Given the description of an element on the screen output the (x, y) to click on. 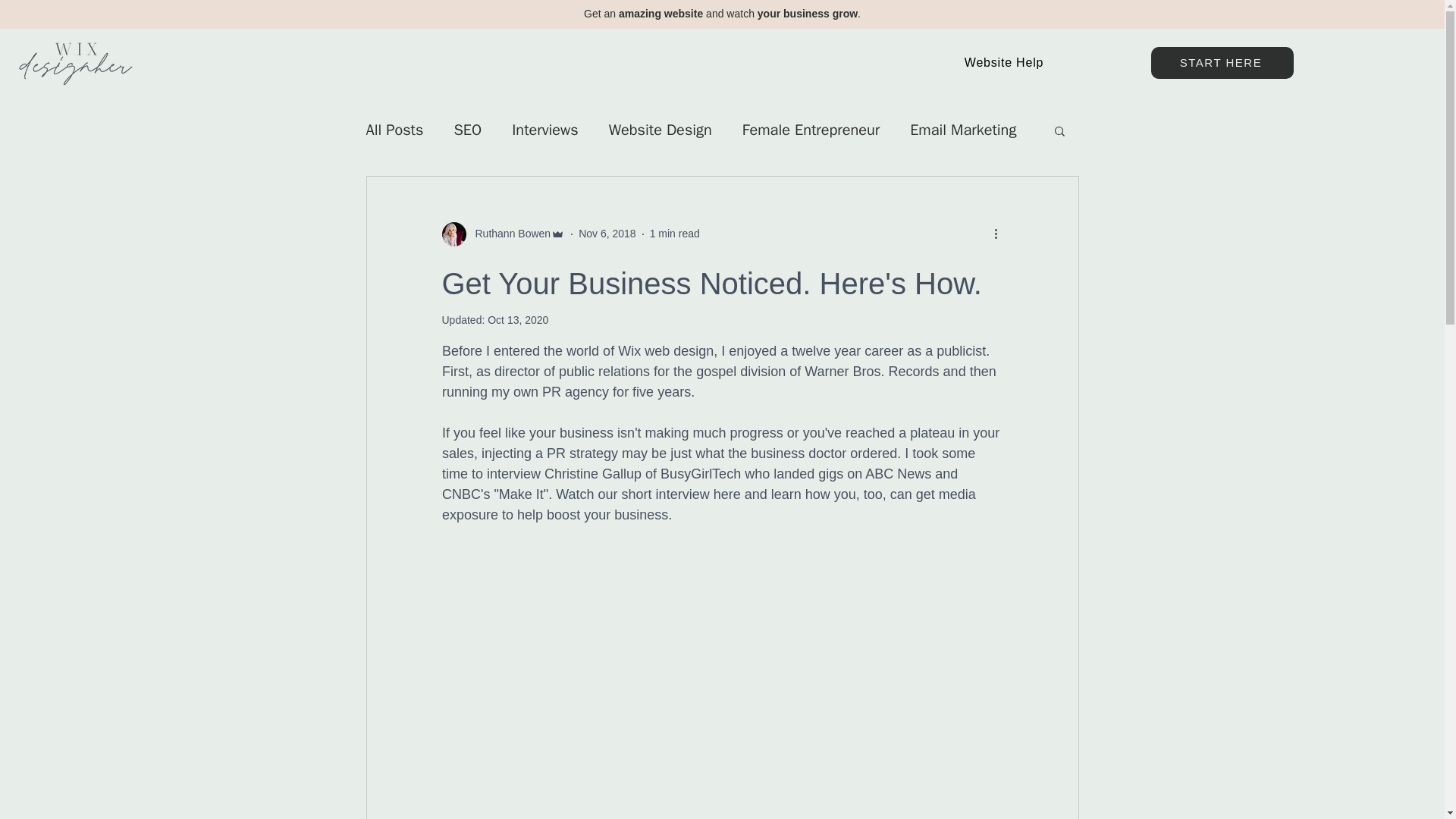
Ruthann Bowen (502, 233)
Interviews (545, 129)
All Posts (394, 129)
Website Design (659, 129)
Female Entrepreneur (810, 129)
1 min read (674, 233)
Oct 13, 2020 (517, 319)
START HERE (1222, 62)
Nov 6, 2018 (607, 233)
SEO (466, 129)
Email Marketing (963, 129)
Ruthann Bowen (507, 233)
